Given the description of an element on the screen output the (x, y) to click on. 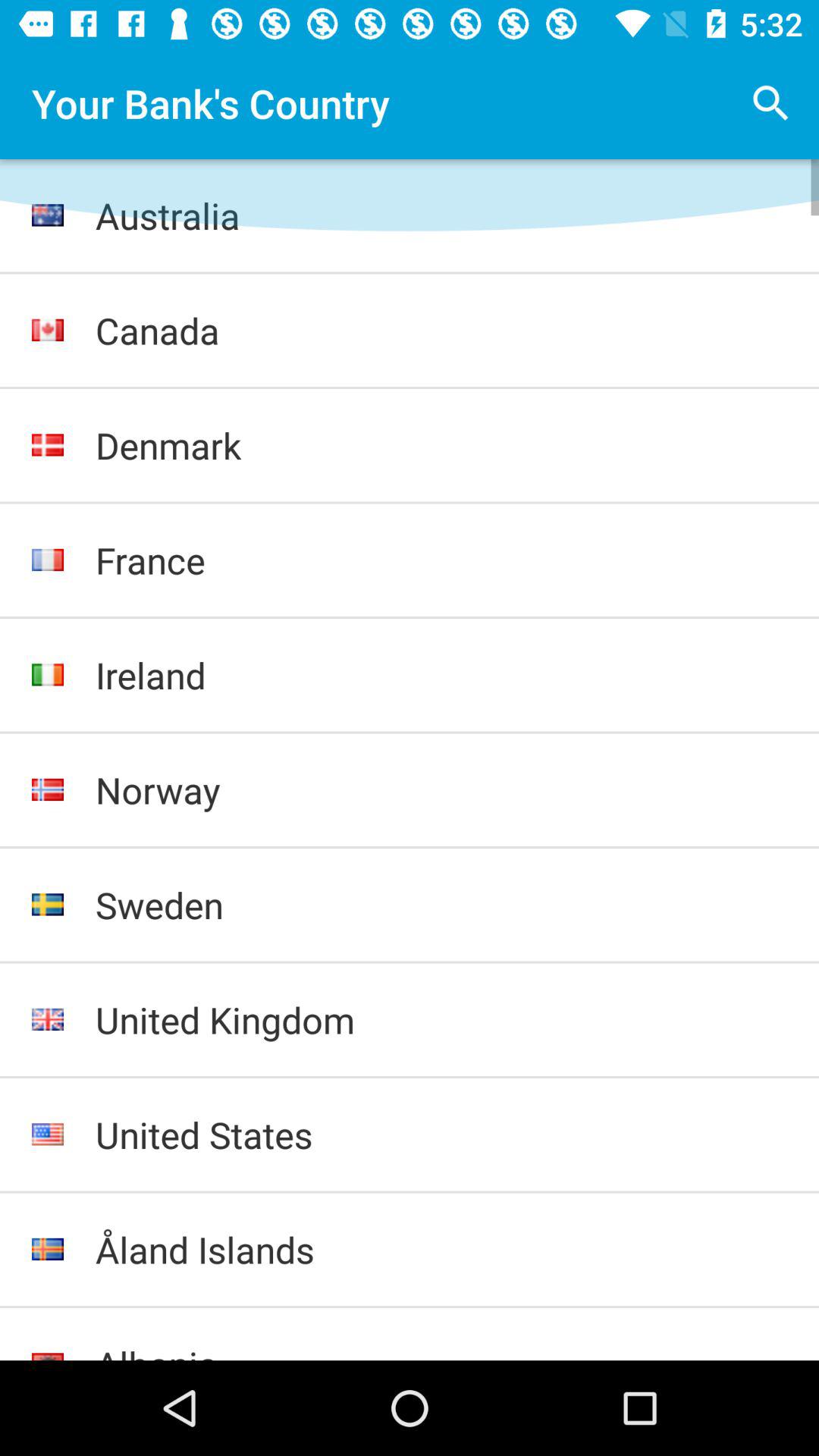
open item below france icon (441, 674)
